Given the description of an element on the screen output the (x, y) to click on. 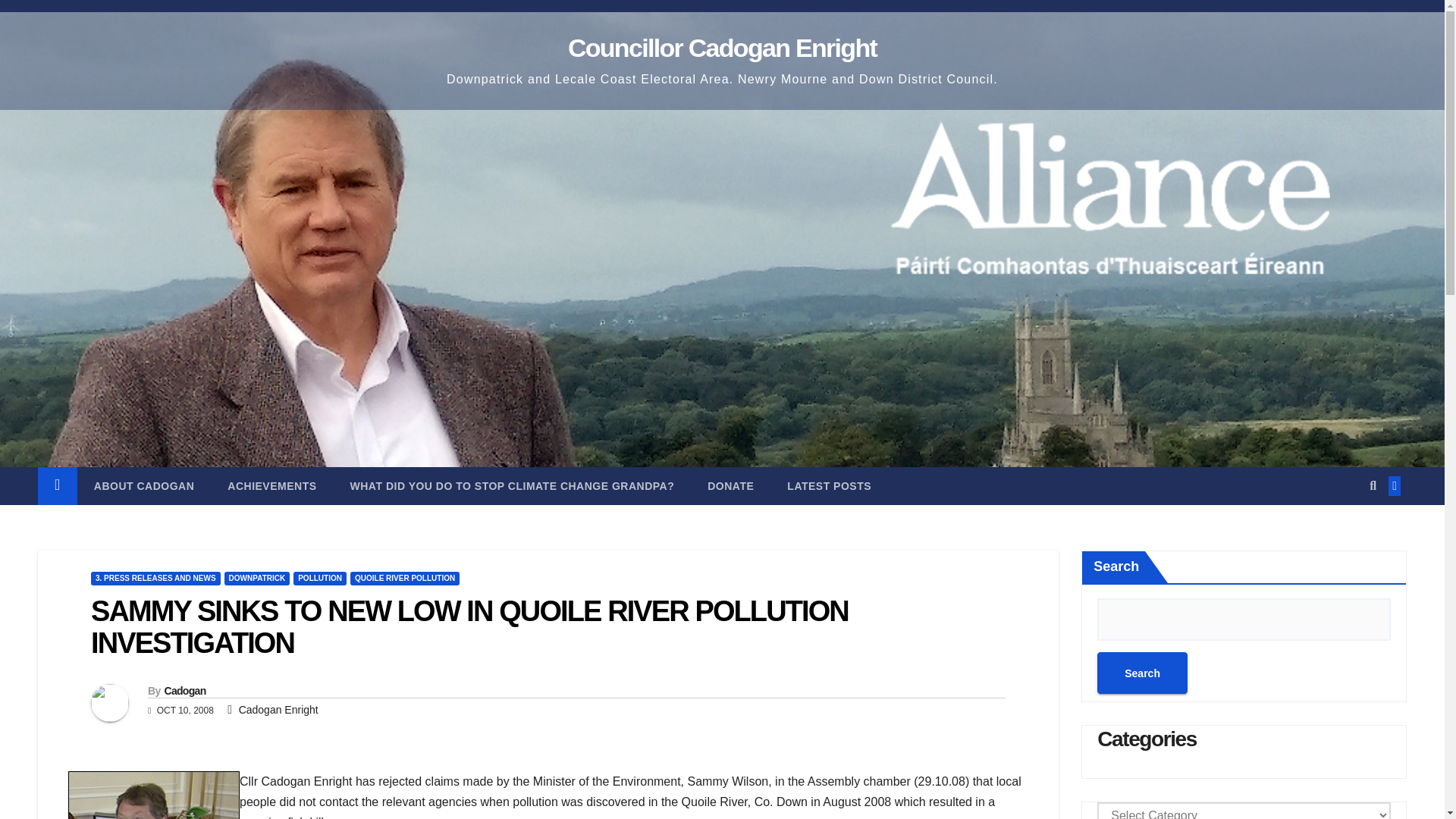
LATEST POSTS (829, 485)
WHAT DID YOU DO TO STOP CLIMATE CHANGE GRANDPA? (512, 485)
Environment Minister Sammy Wilson (154, 795)
About Cadogan (144, 485)
ABOUT CADOGAN (144, 485)
3. PRESS RELEASES AND NEWS (155, 578)
WHAT DID YOU DO TO STOP CLIMATE CHANGE GRANDPA? (512, 485)
DOWNPATRICK (256, 578)
POLLUTION (320, 578)
DONATE (730, 485)
Cadogan Enright (278, 709)
LATEST POSTS (829, 485)
Cadogan (184, 690)
QUOILE RIVER POLLUTION (405, 578)
